Given the description of an element on the screen output the (x, y) to click on. 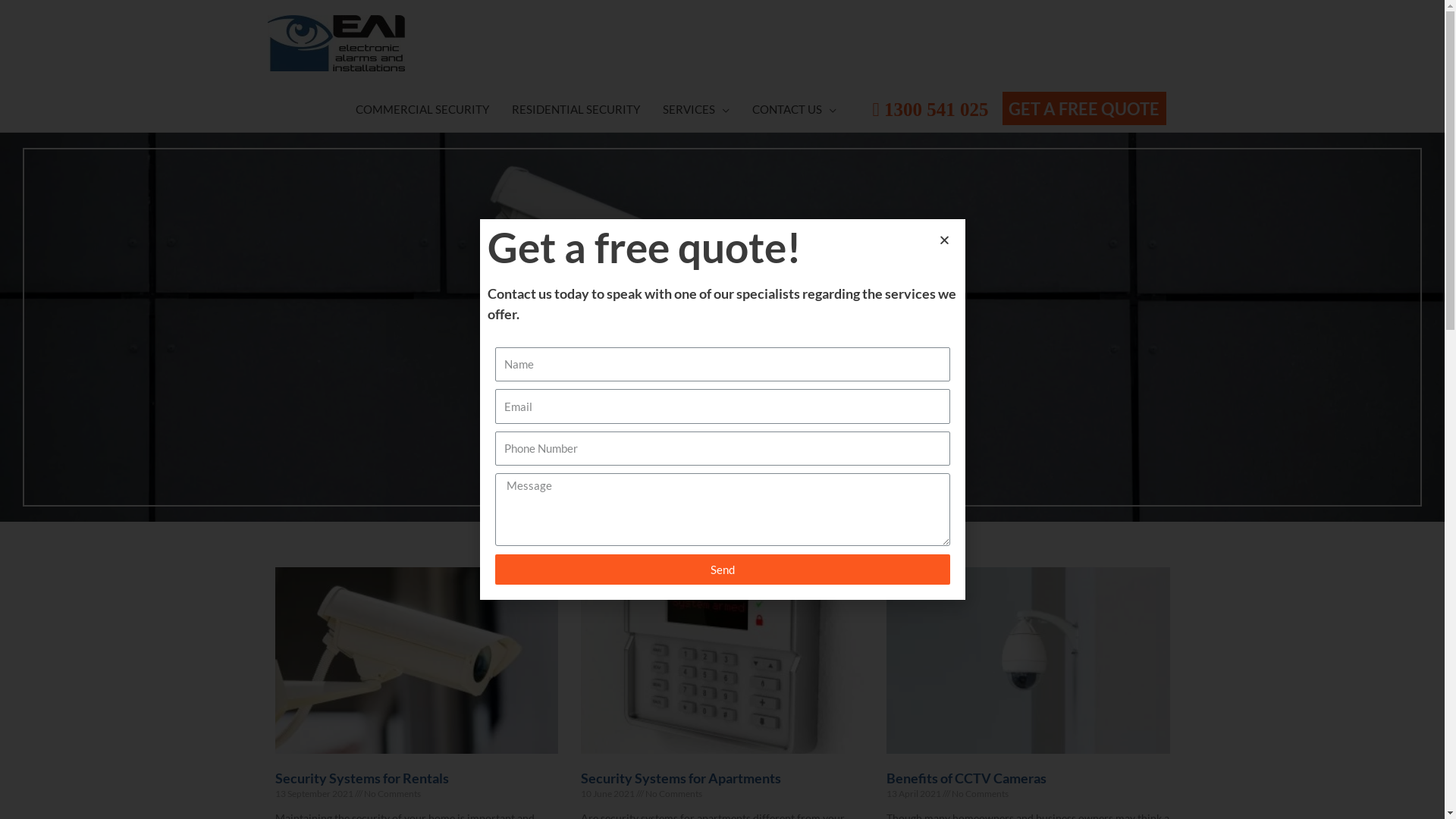
COMMERCIAL SECURITY Element type: text (422, 108)
CONTACT US Element type: text (793, 108)
SERVICES Element type: text (695, 108)
1300 541 025 Element type: text (929, 111)
RESIDENTIAL SECURITY Element type: text (575, 108)
Benefits of CCTV Cameras Element type: text (966, 777)
GET A FREE QUOTE Element type: text (1081, 110)
Security Systems for Apartments Element type: text (680, 777)
Send Element type: text (721, 569)
Security Systems for Rentals Element type: text (361, 777)
